Given the description of an element on the screen output the (x, y) to click on. 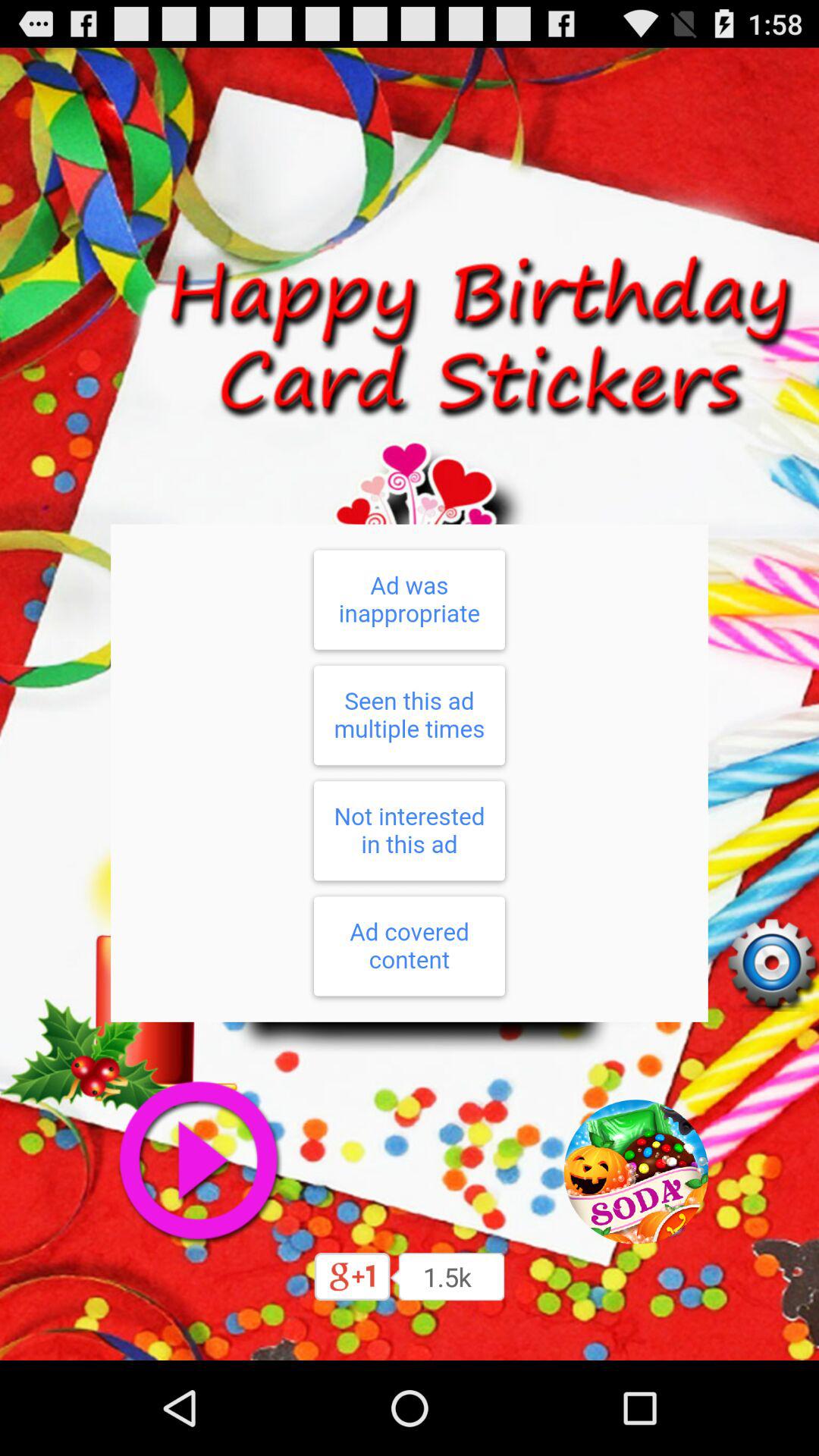
play (197, 1160)
